Given the description of an element on the screen output the (x, y) to click on. 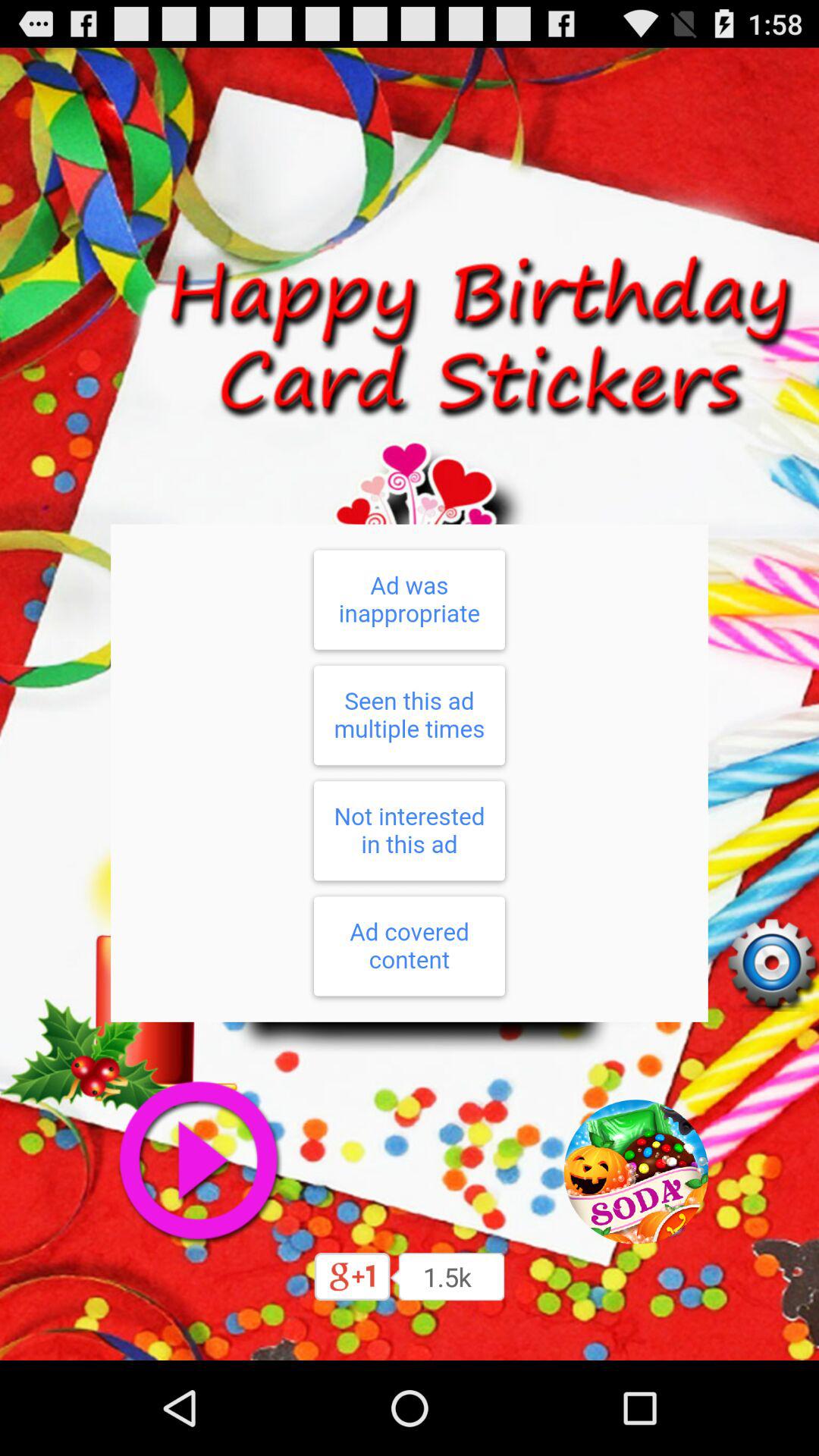
play (197, 1160)
